Given the description of an element on the screen output the (x, y) to click on. 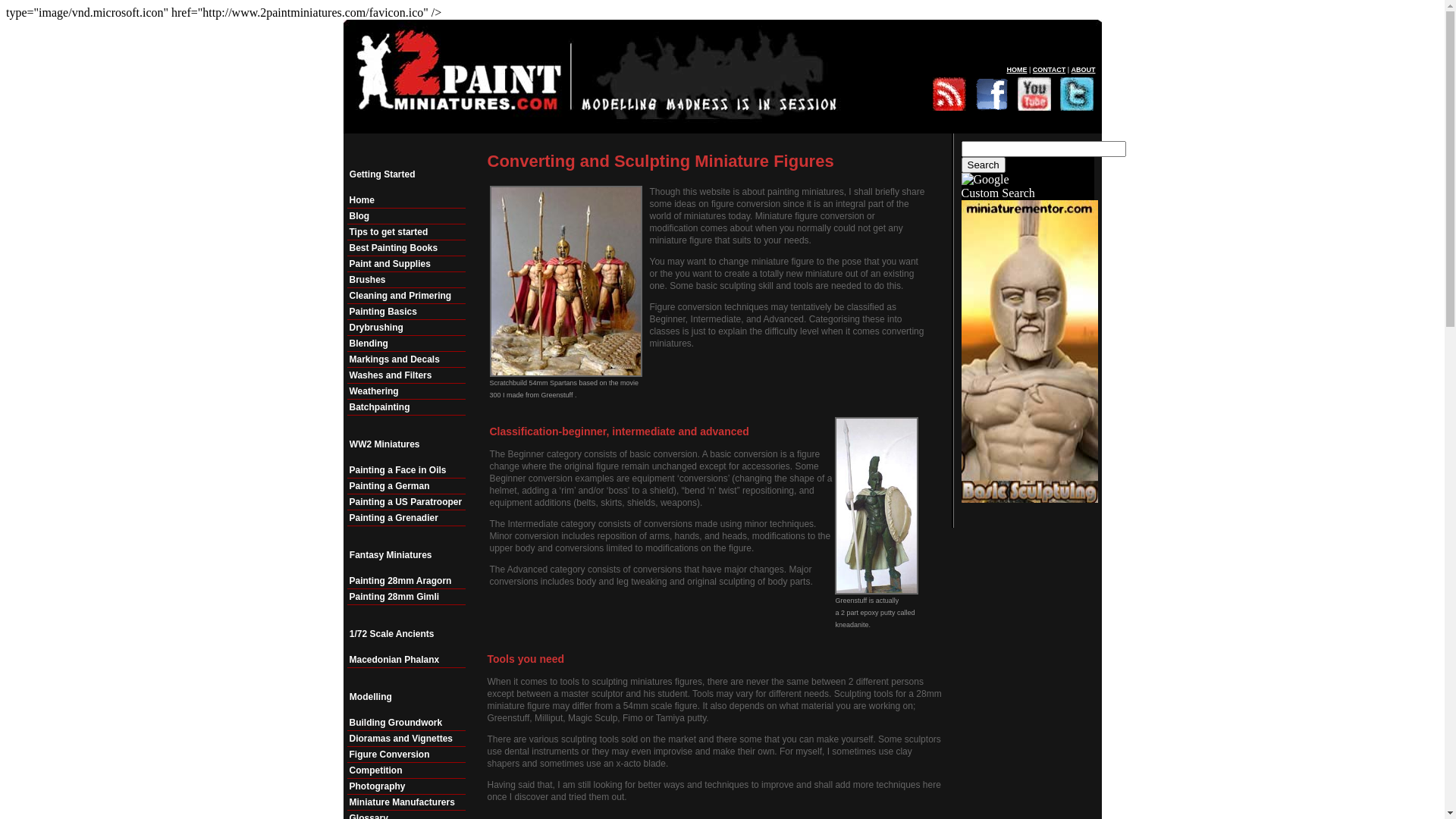
Blending Element type: text (406, 343)
Painting 28mm Aragorn Element type: text (406, 581)
Washes and Filters Element type: text (406, 375)
CONTACT Element type: text (1048, 69)
Painting 28mm Gimli Element type: text (406, 597)
Markings and Decals Element type: text (406, 359)
Weathering Element type: text (406, 391)
Building Groundwork Element type: text (406, 723)
Drybrushing Element type: text (406, 327)
Competition Element type: text (406, 770)
Batchpainting Element type: text (406, 407)
ABOUT Element type: text (1082, 69)
Painting Basics Element type: text (406, 312)
Miniature Manufacturers Element type: text (406, 802)
Paint and Supplies Element type: text (406, 264)
Figure Conversion Element type: text (406, 754)
Tips to get started Element type: text (406, 232)
Painting a German Element type: text (406, 486)
Best Painting Books Element type: text (406, 248)
Photography Element type: text (406, 786)
Macedonian Phalanx Element type: text (406, 660)
Home Element type: text (406, 200)
Painting a Grenadier Element type: text (406, 518)
Blog Element type: text (406, 216)
Painting a US Paratrooper Element type: text (406, 502)
Brushes Element type: text (406, 280)
Dioramas and Vignettes Element type: text (406, 738)
Painting a Face in Oils Element type: text (406, 470)
Cleaning and Primering Element type: text (406, 296)
HOME Element type: text (1016, 69)
Search Element type: text (983, 164)
